Given the description of an element on the screen output the (x, y) to click on. 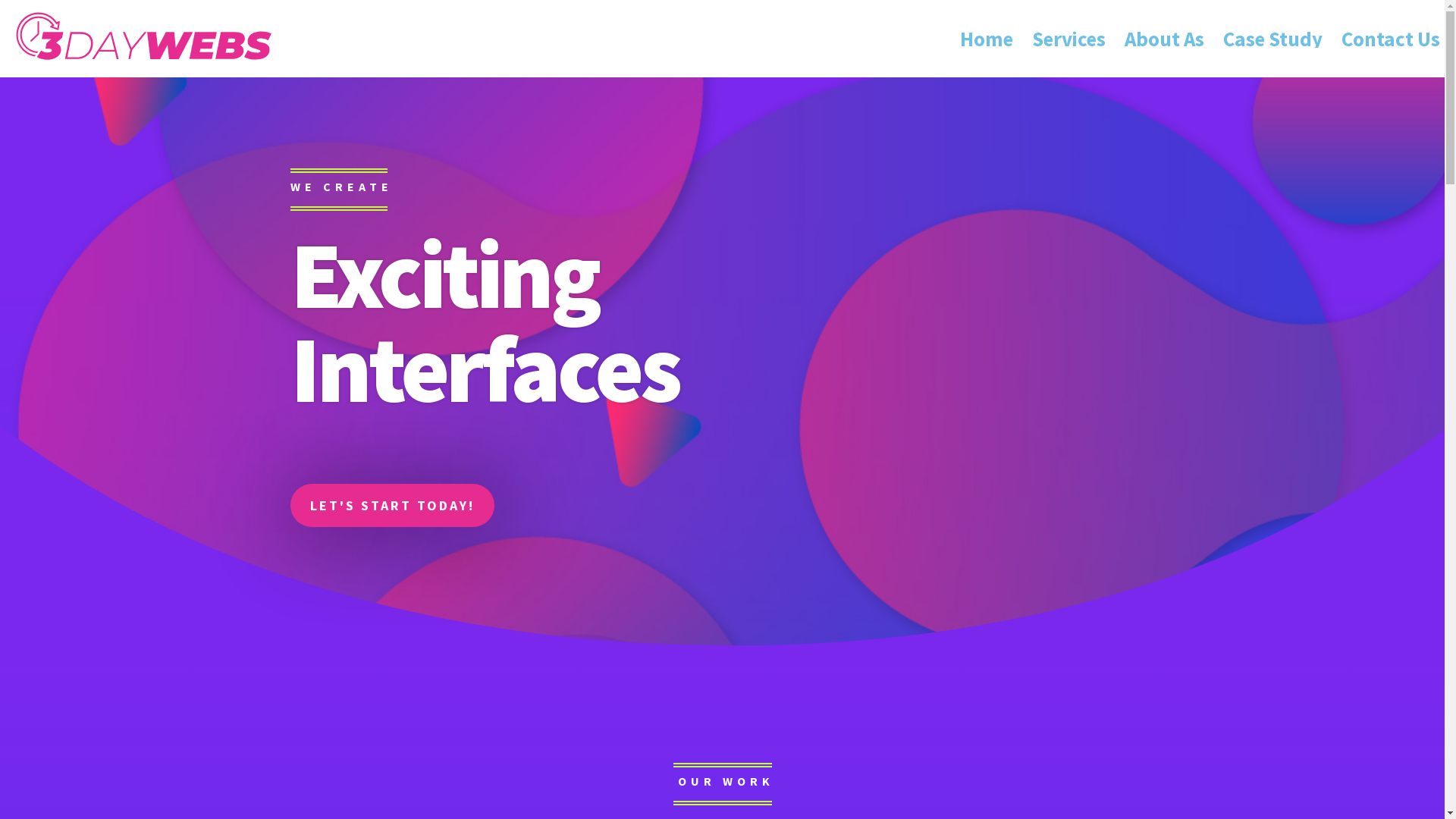
About As Element type: text (1164, 38)
LET'S START TODAY! Element type: text (391, 505)
Home Element type: text (986, 38)
Case Study Element type: text (1272, 38)
Contact Us Element type: text (1390, 38)
Services Element type: text (1068, 38)
